Given the description of an element on the screen output the (x, y) to click on. 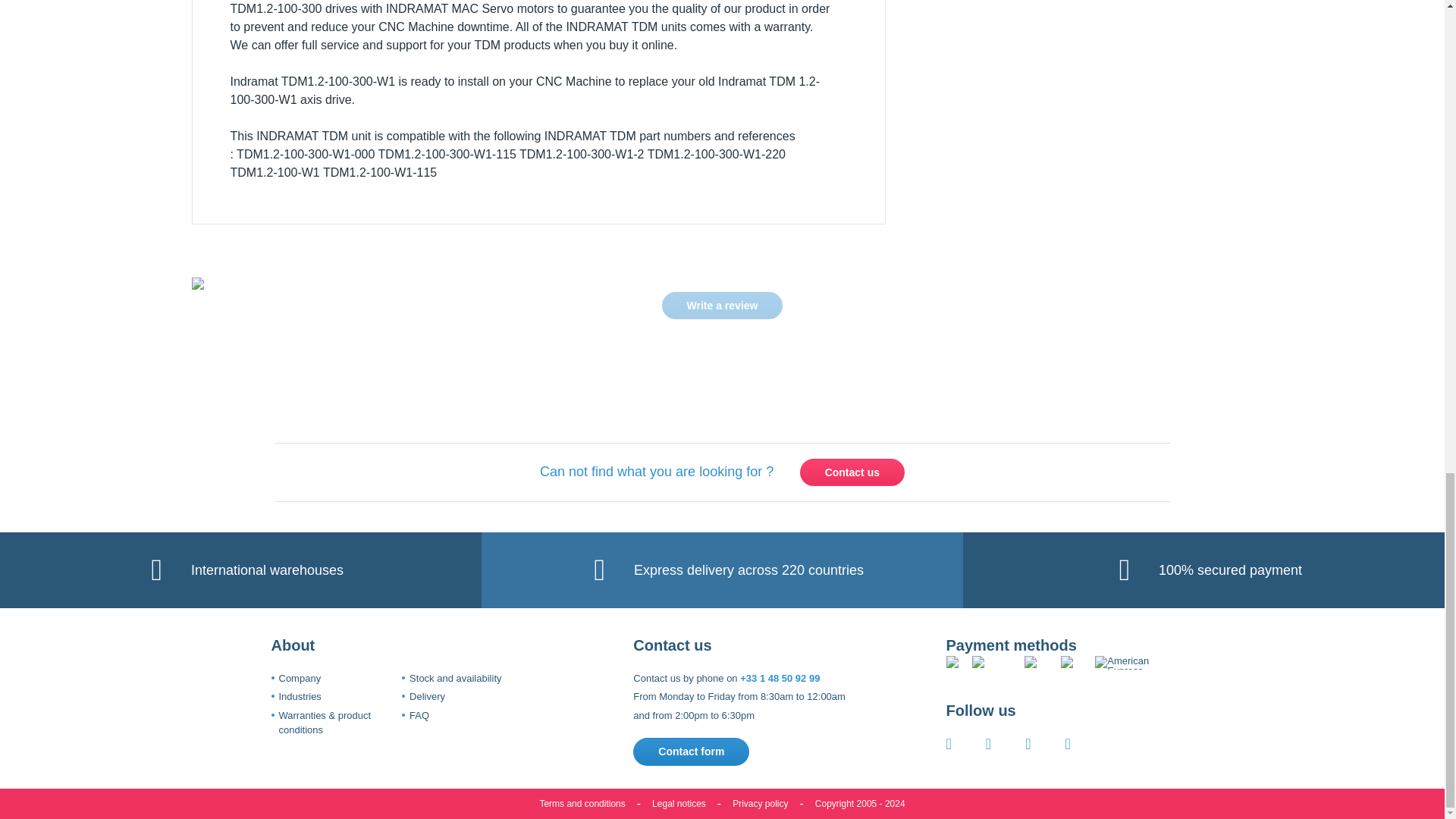
About CNC Shopping (300, 677)
Contact us (851, 472)
